Given the description of an element on the screen output the (x, y) to click on. 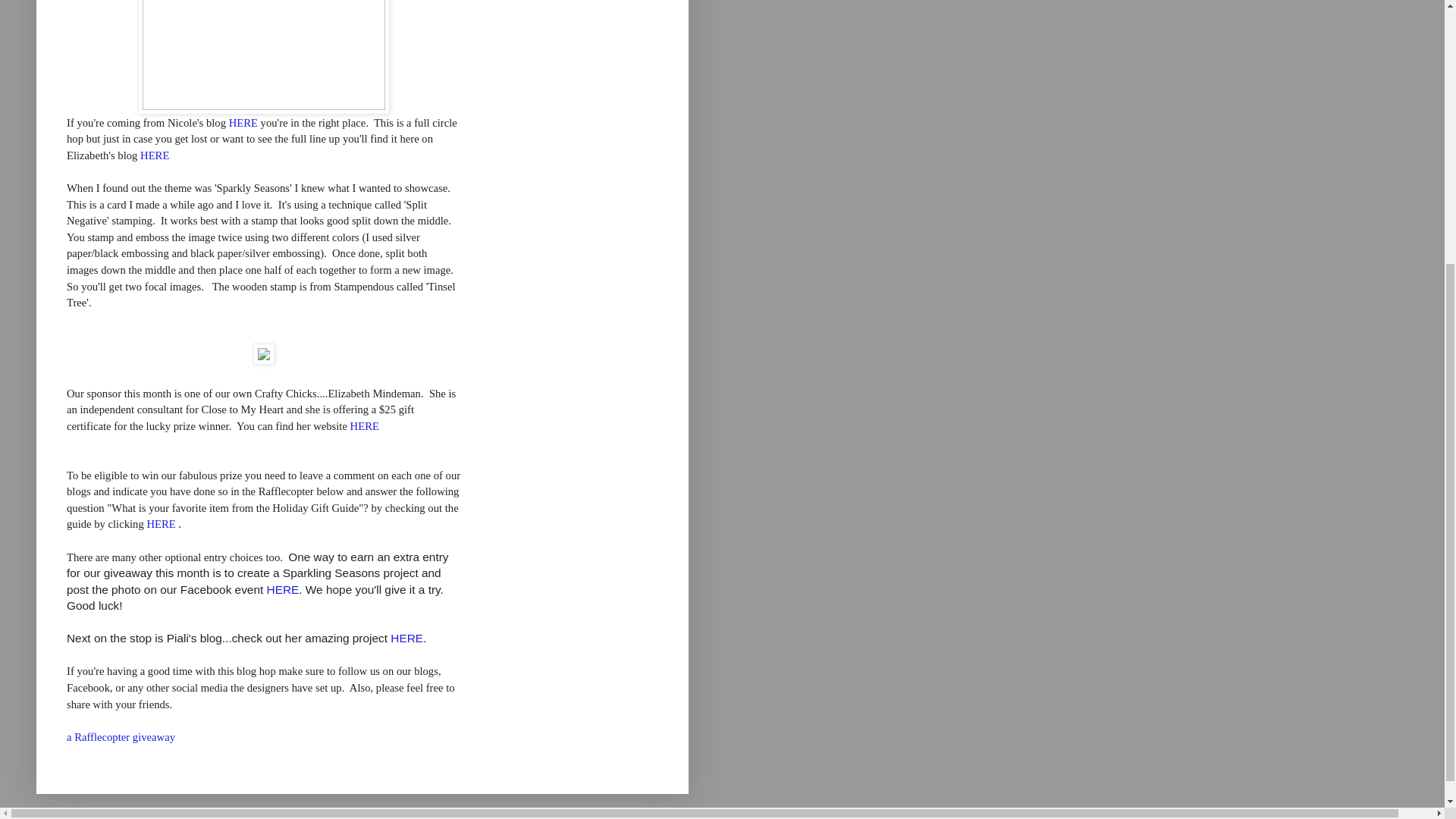
HERE (153, 155)
HERE (242, 122)
HERE (364, 426)
HERE . (163, 523)
a Rafflecopter giveaway (120, 736)
HERE (282, 589)
HERE (406, 637)
